Given the description of an element on the screen output the (x, y) to click on. 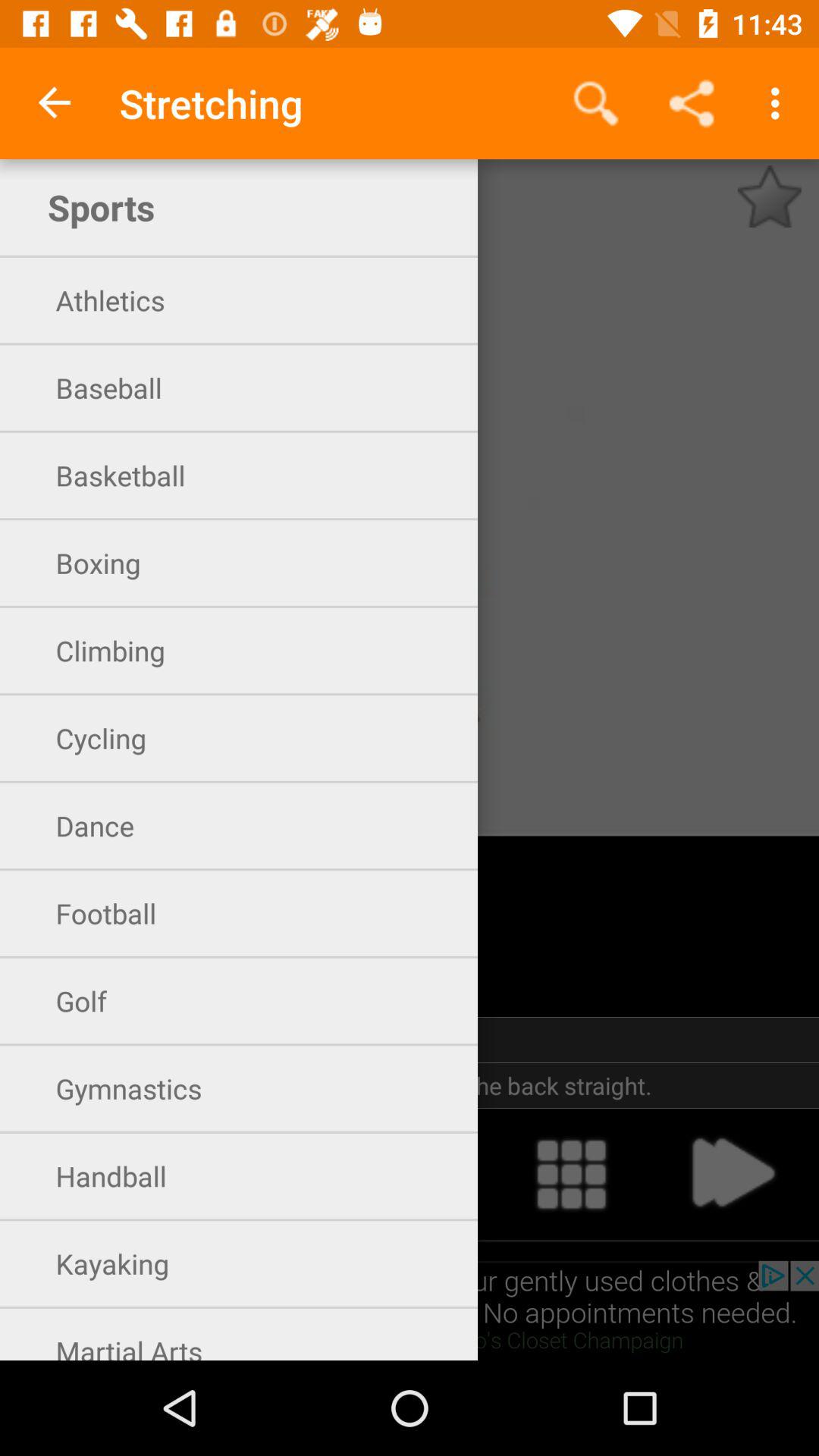
click handball option (409, 1174)
